Given the description of an element on the screen output the (x, y) to click on. 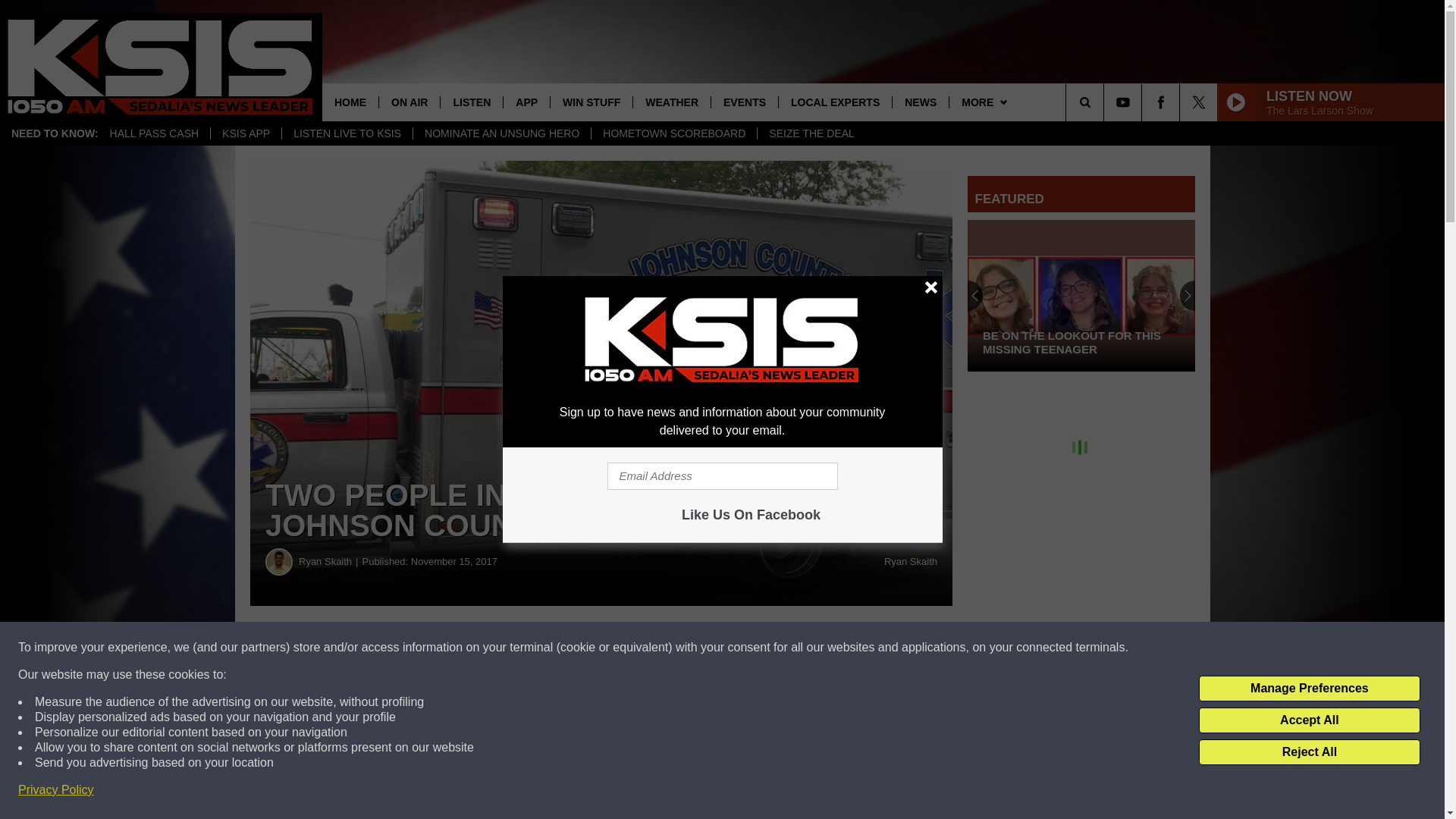
HALL PASS CASH (155, 133)
LISTEN (470, 102)
HOMETOWN SCOREBOARD (674, 133)
NEWS (920, 102)
Manage Preferences (1309, 688)
Share on Facebook (460, 647)
Email Address (722, 475)
WEATHER (670, 102)
NOMINATE AN UNSUNG HERO (501, 133)
HOME (349, 102)
LISTEN LIVE TO KSIS (346, 133)
WIN STUFF (590, 102)
SEIZE THE DEAL (811, 133)
Accept All (1309, 720)
SEARCH (1106, 102)
